Given the description of an element on the screen output the (x, y) to click on. 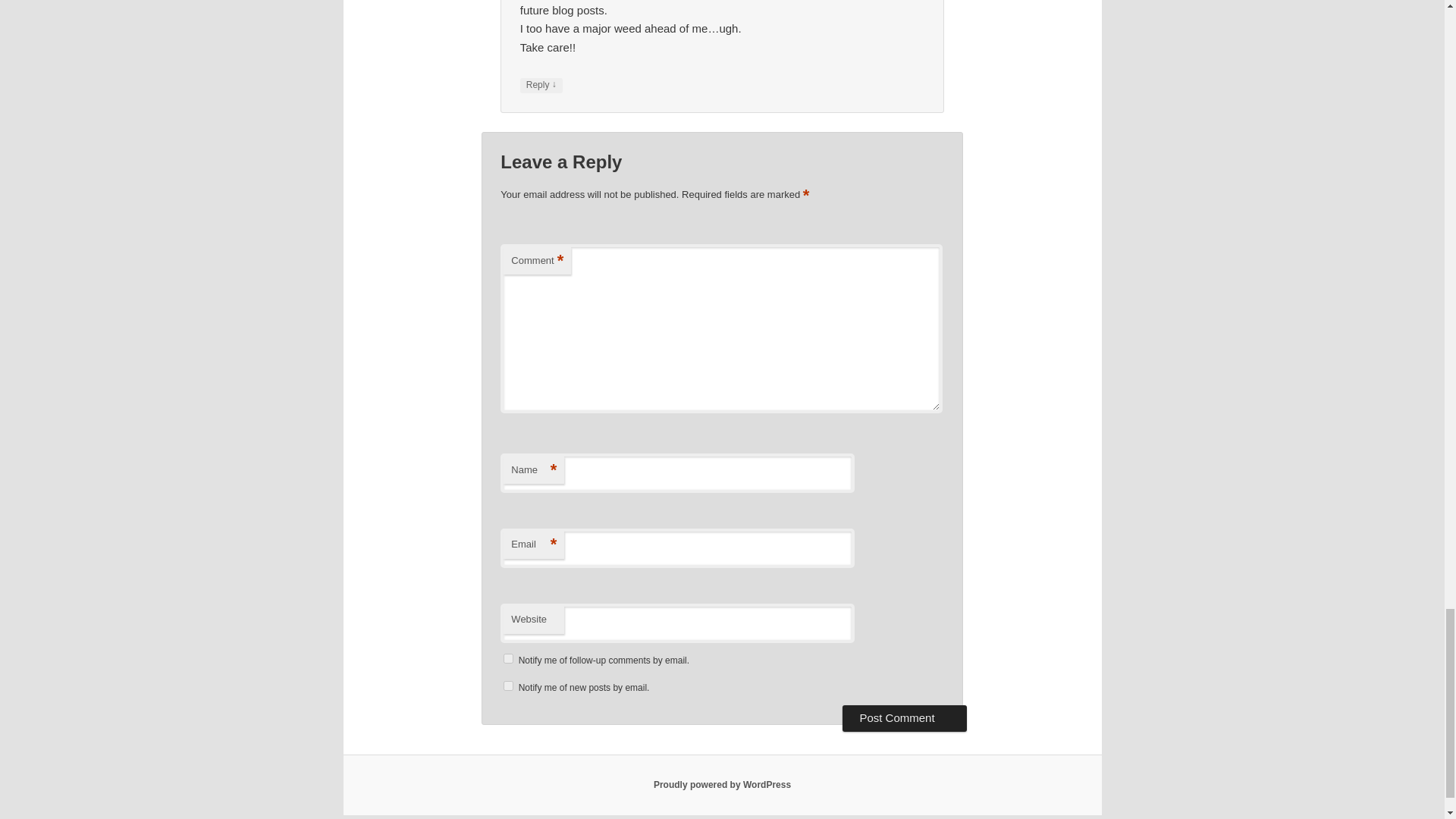
Post Comment (904, 718)
Semantic Personal Publishing Platform (721, 784)
Post Comment (904, 718)
Proudly powered by WordPress (721, 784)
subscribe (508, 658)
subscribe (508, 685)
